Given the description of an element on the screen output the (x, y) to click on. 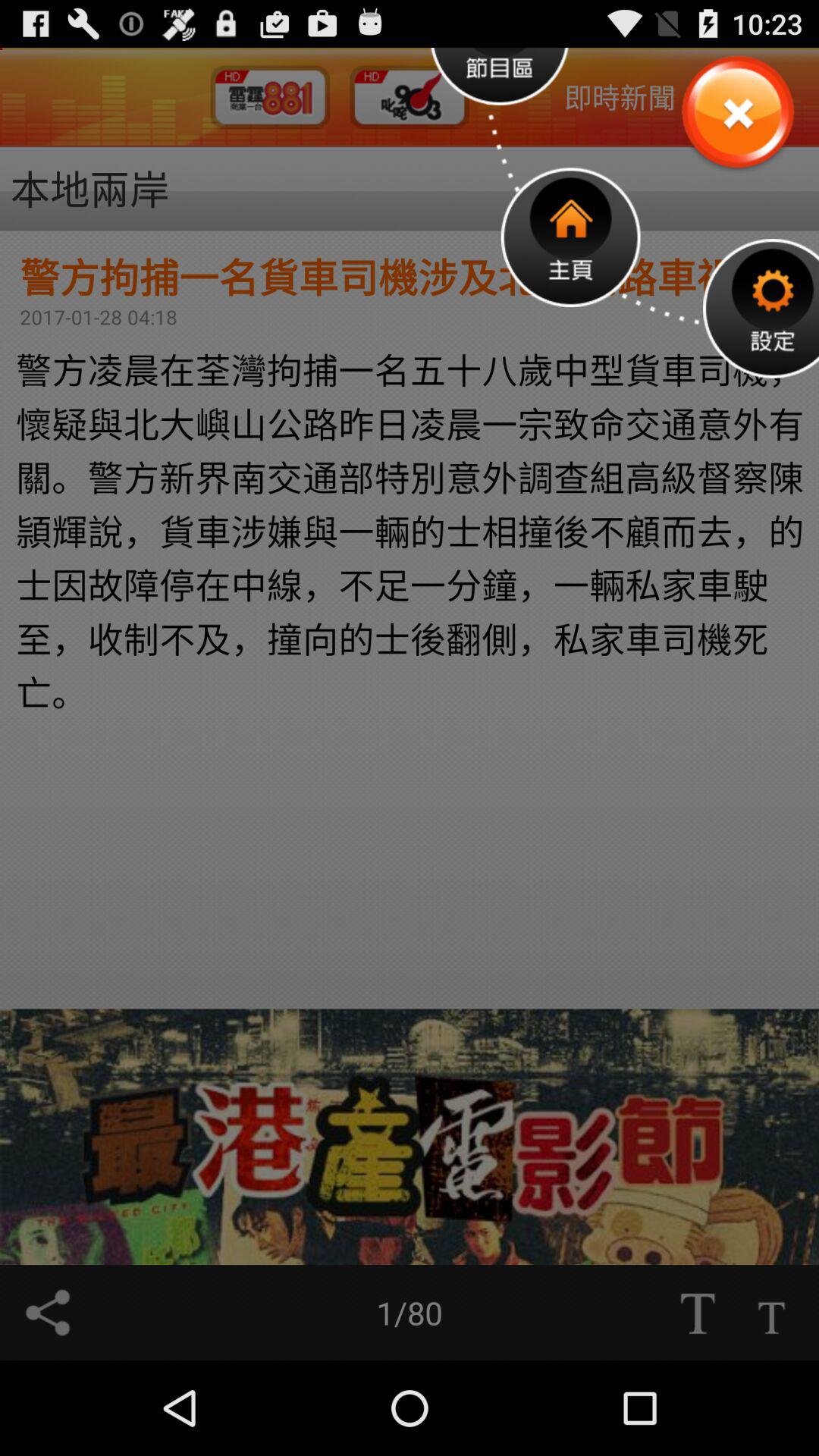
share option (47, 1312)
